Given the description of an element on the screen output the (x, y) to click on. 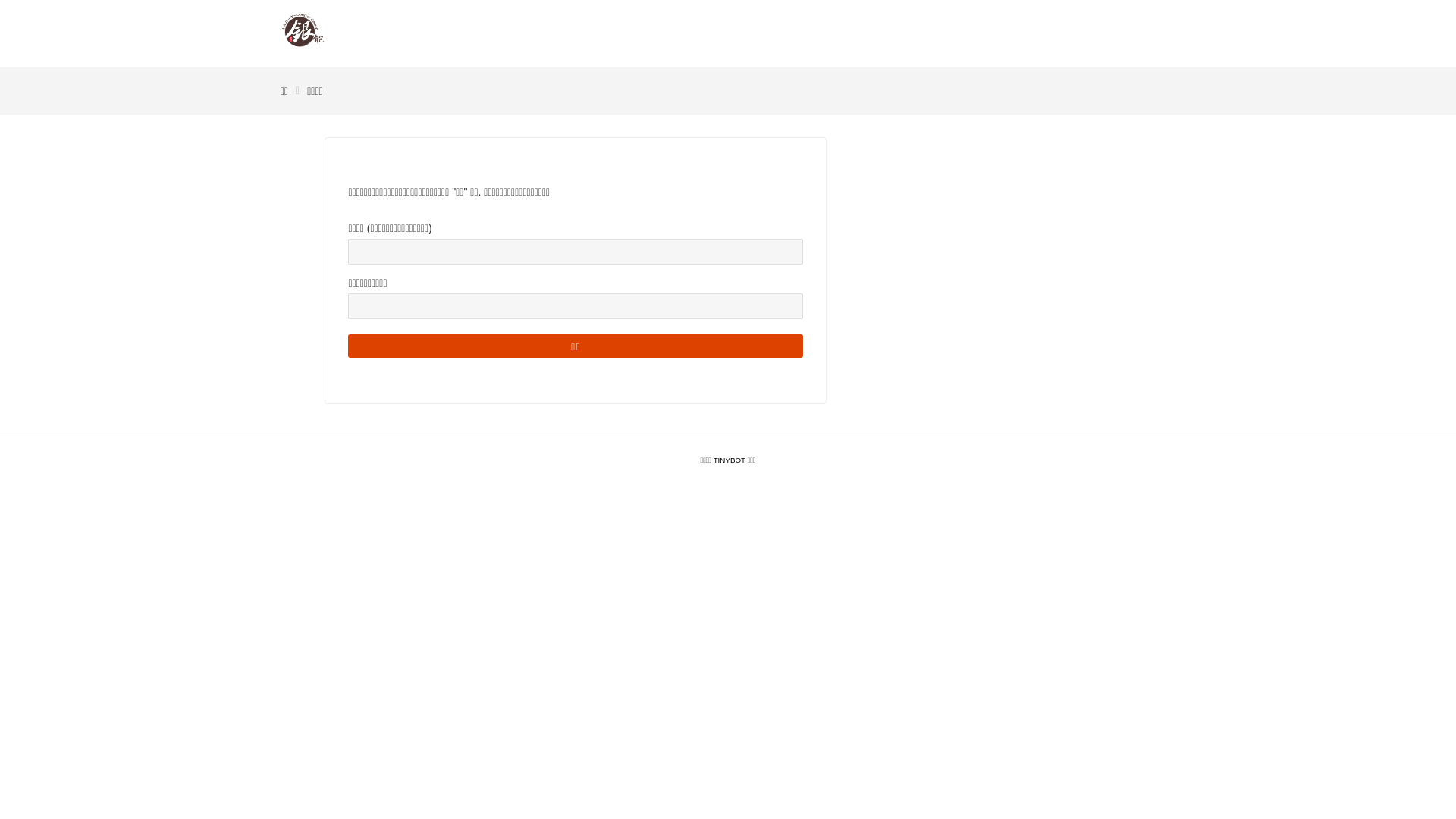
TINYBOT Element type: text (729, 459)
